Given the description of an element on the screen output the (x, y) to click on. 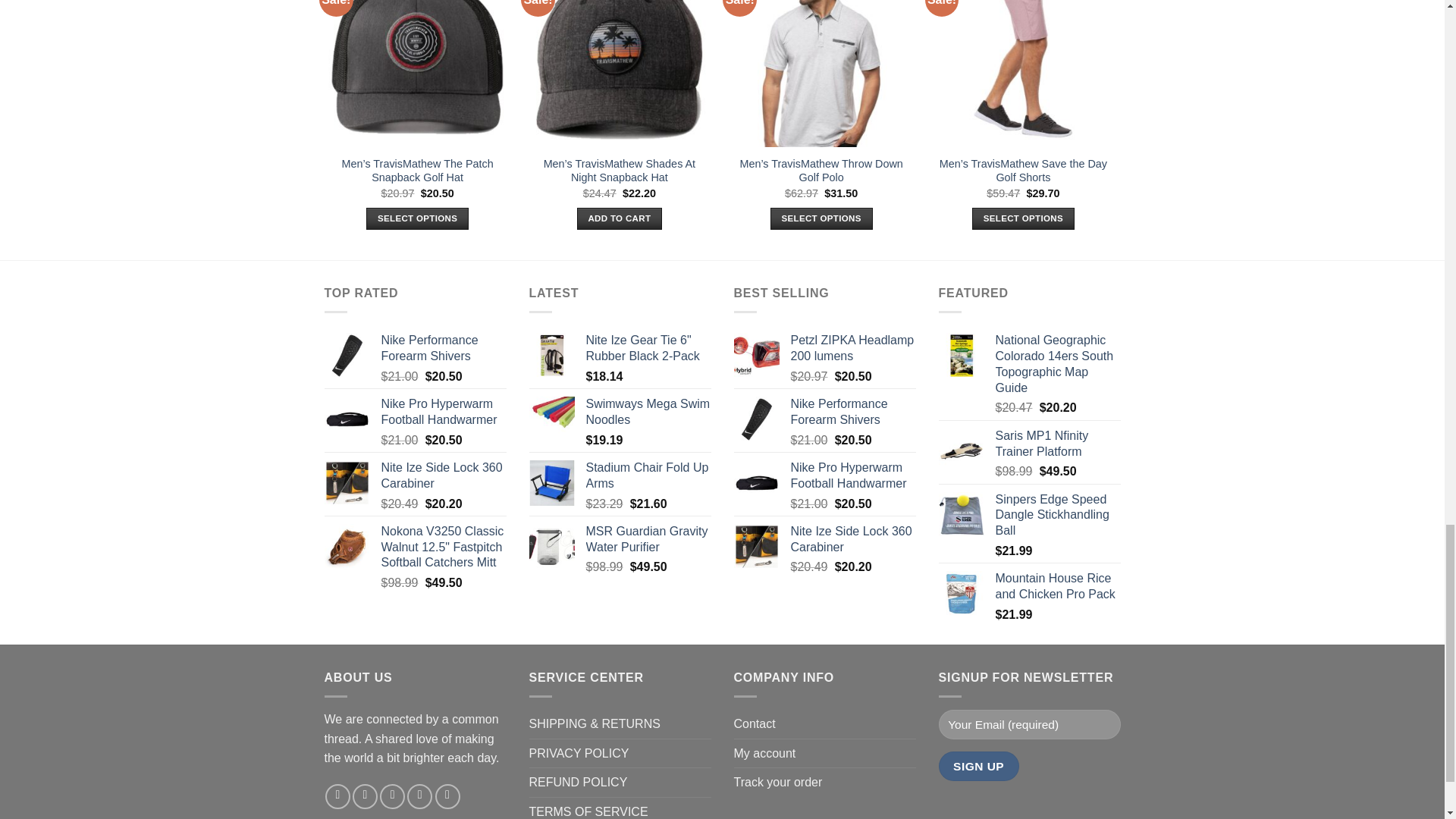
Sign Up (979, 766)
Follow on Instagram (364, 796)
Follow on Facebook (337, 796)
